Given the description of an element on the screen output the (x, y) to click on. 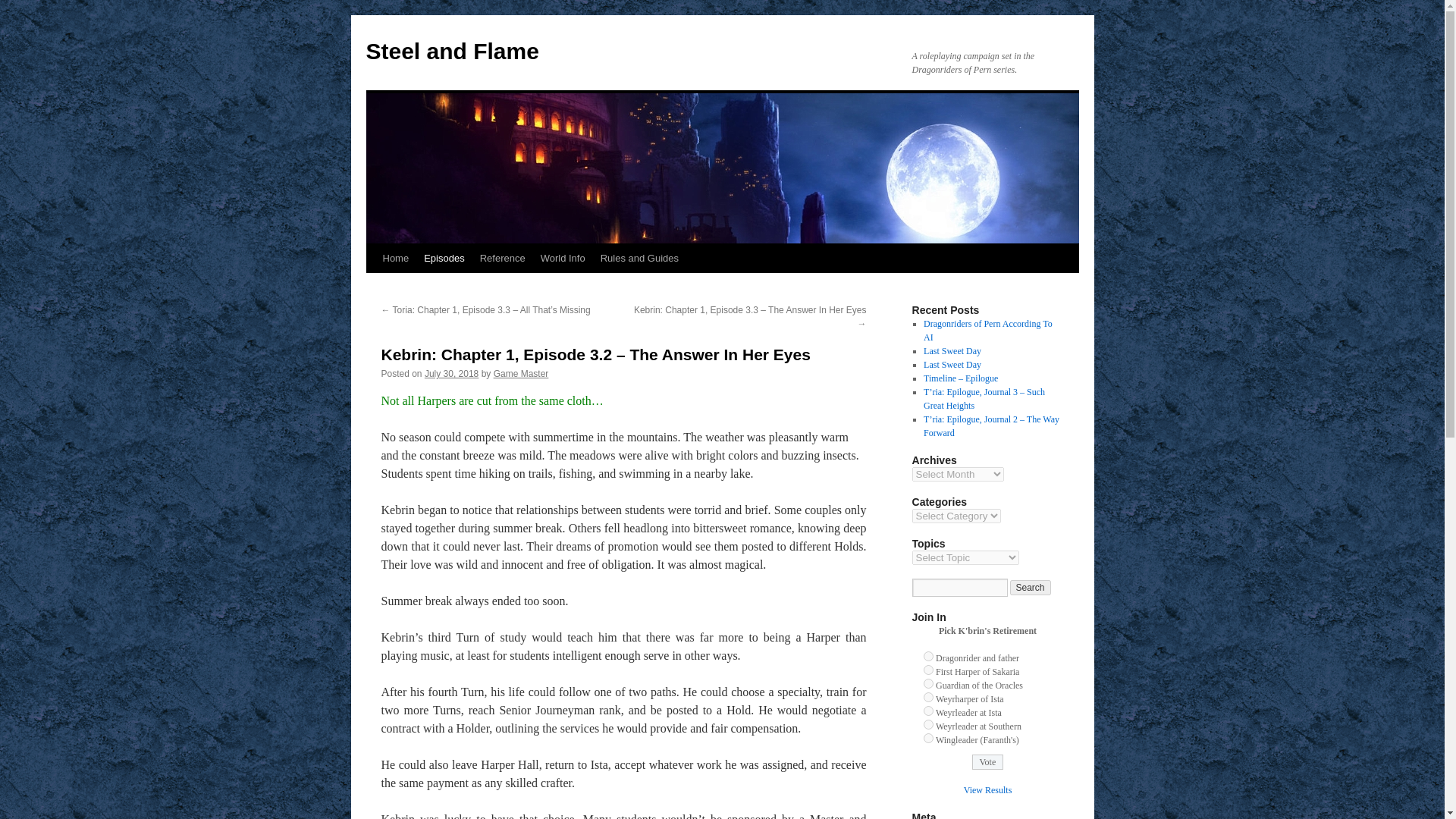
Steel and Flame (451, 50)
Search (1030, 587)
Reference (501, 258)
Episodes (443, 258)
   Vote    (988, 761)
World Info (562, 258)
Steel and Flame (451, 50)
162 (928, 669)
166 (928, 724)
